Given the description of an element on the screen output the (x, y) to click on. 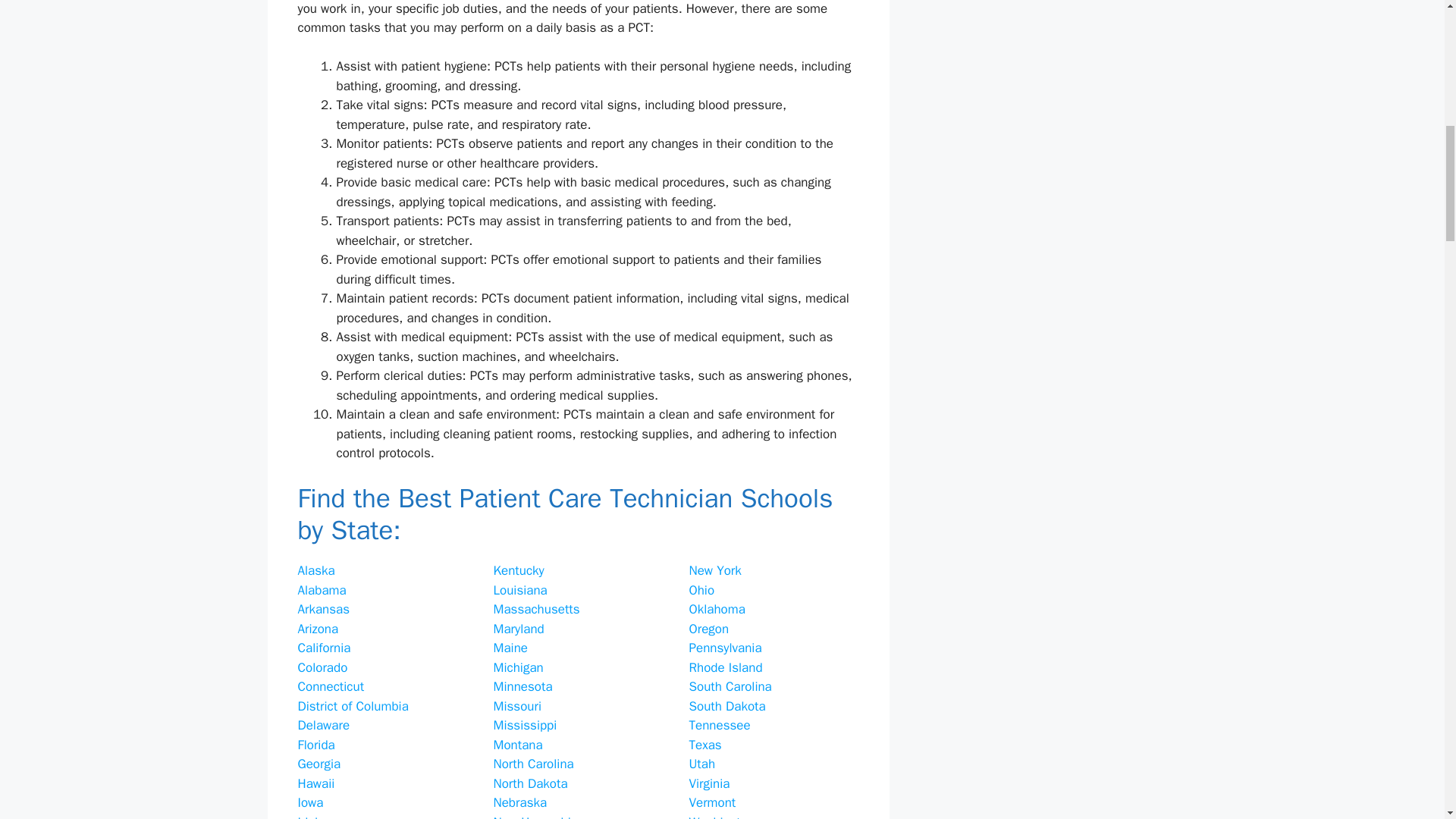
New Hampshire (536, 816)
Idaho (313, 816)
Minnesota (522, 686)
North Carolina (533, 763)
Georgia (318, 763)
Alabama (321, 590)
Arizona (317, 628)
Alaska (315, 570)
Michigan (518, 667)
California (323, 647)
Nebraska (520, 802)
Massachusetts (536, 609)
Montana (517, 744)
Missouri (516, 706)
Hawaii (315, 783)
